Given the description of an element on the screen output the (x, y) to click on. 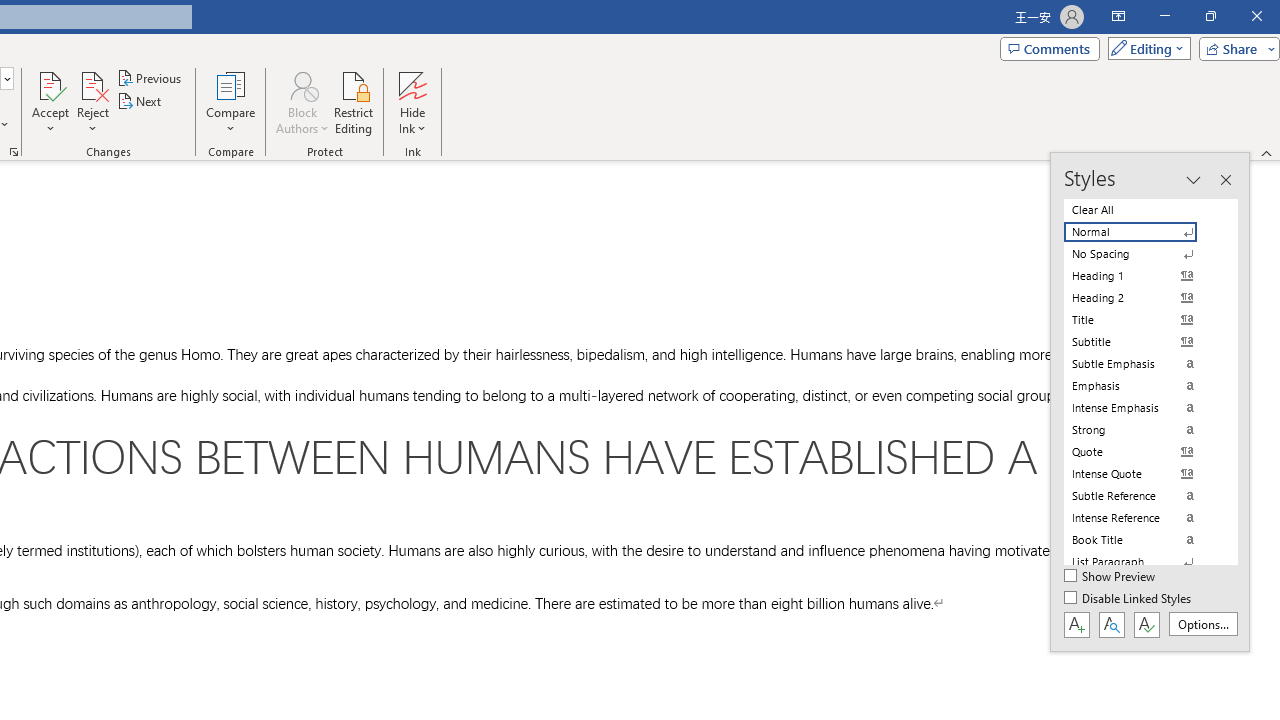
Next (140, 101)
Reject (92, 102)
List Paragraph (1142, 561)
Clear All (1142, 209)
Reject and Move to Next (92, 84)
Disable Linked Styles (1129, 599)
No Spacing (1142, 253)
Book Title (1142, 539)
Subtle Emphasis (1142, 363)
Block Authors (302, 102)
Heading 2 (1142, 297)
Quote (1142, 451)
